Given the description of an element on the screen output the (x, y) to click on. 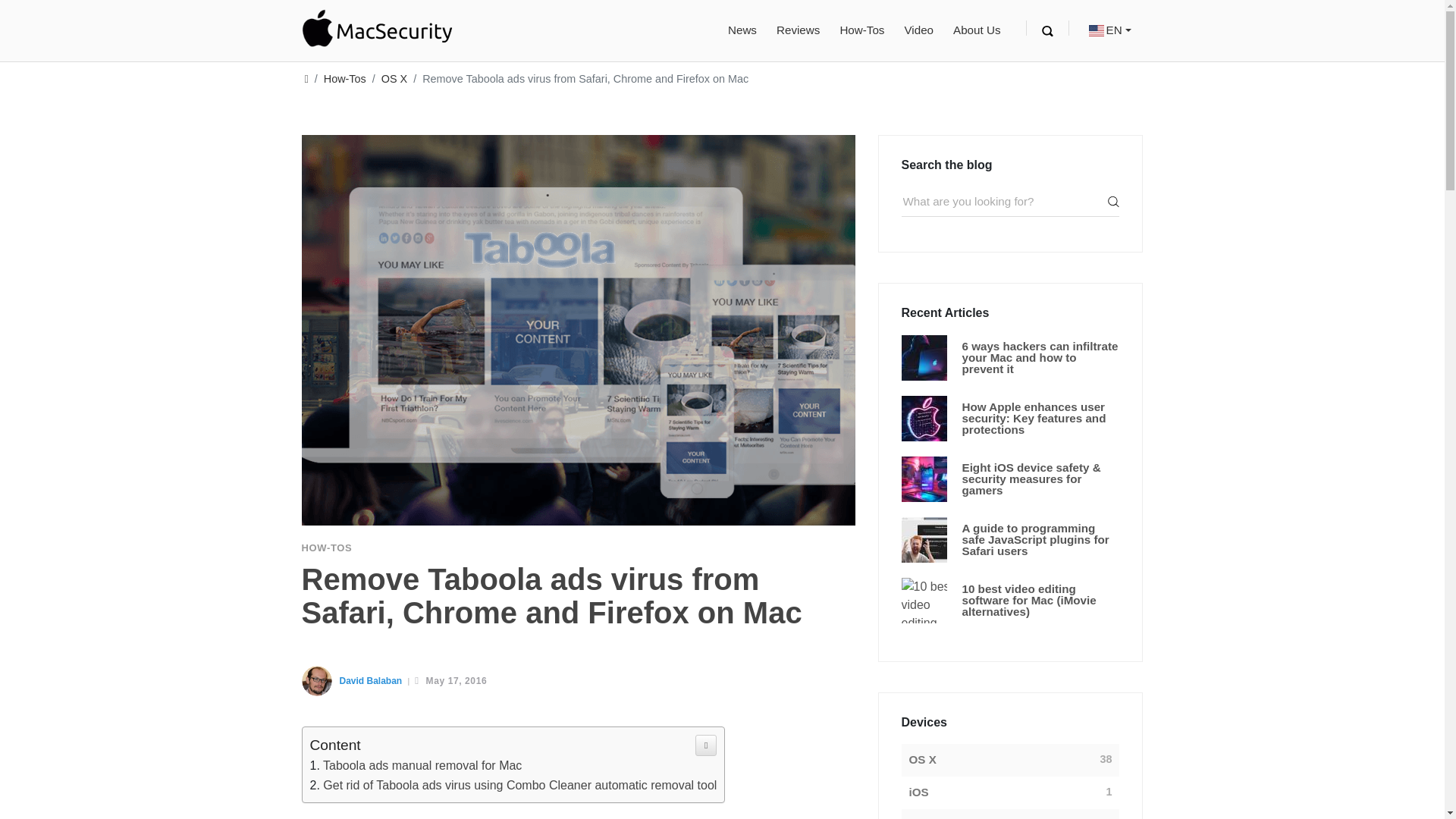
About Us (976, 30)
How-Tos (344, 79)
EN (1109, 30)
How-Tos (860, 30)
OS X (394, 79)
Video (918, 30)
David Balaban (371, 680)
OS X (922, 760)
MacBook Air (943, 817)
